Given the description of an element on the screen output the (x, y) to click on. 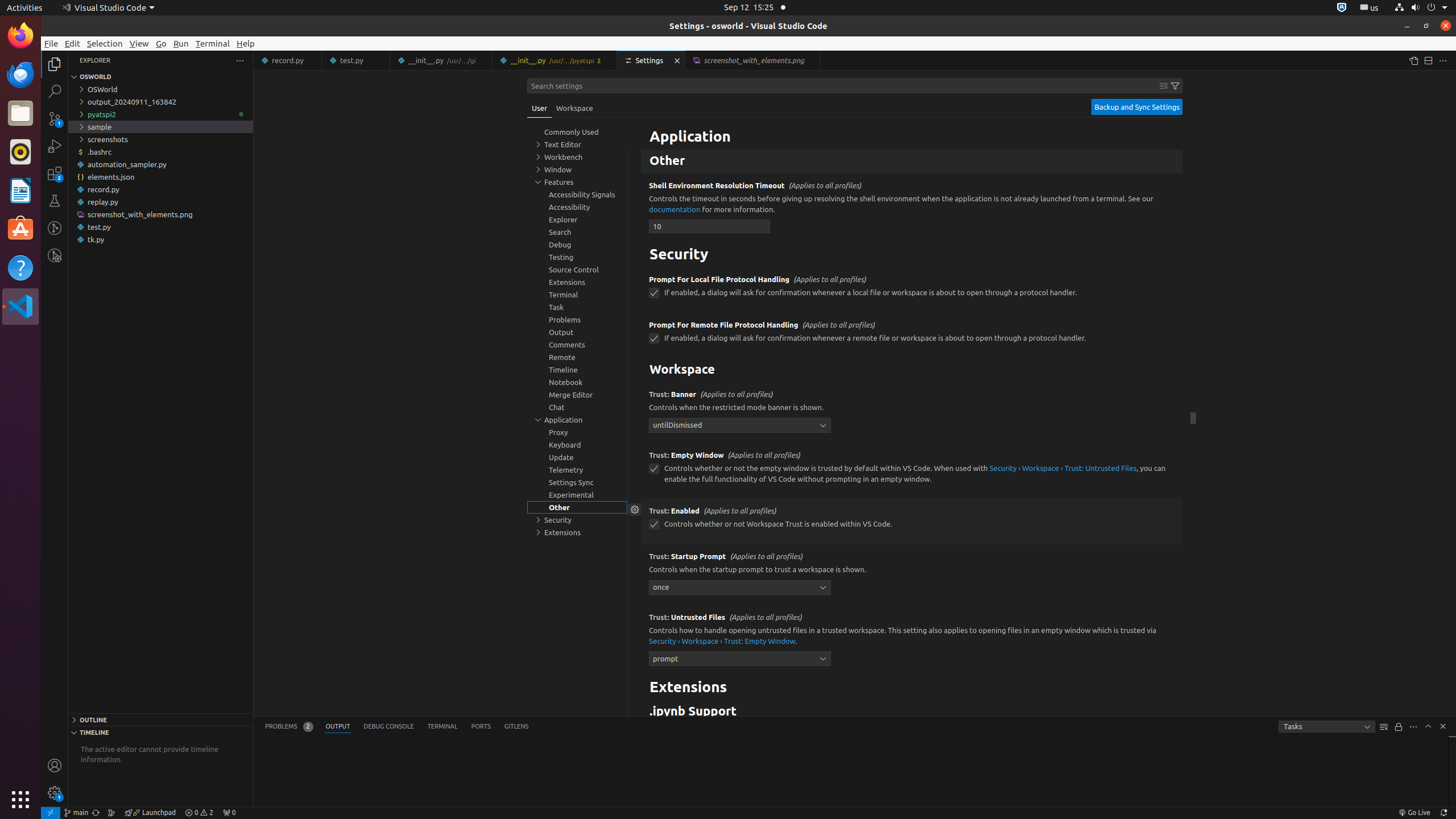
Run and Debug (Ctrl+Shift+D) Element type: page-tab (54, 145)
Chat, group Element type: tree-item (577, 406)
Merge Editor, group Element type: tree-item (577, 394)
User Element type: check-box (539, 107)
Telemetry, group Element type: tree-item (577, 469)
